Given the description of an element on the screen output the (x, y) to click on. 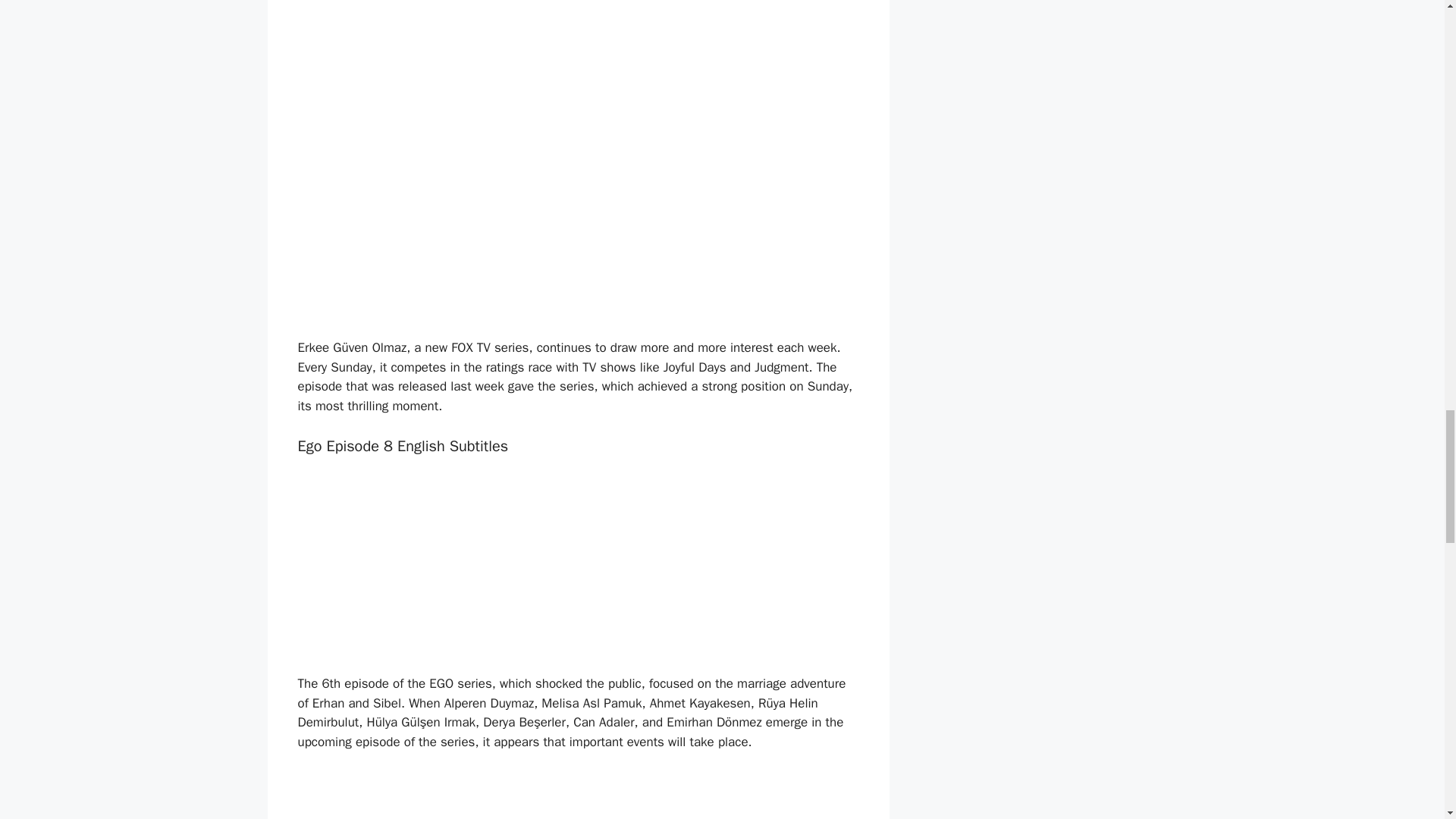
Advertisement (410, 567)
Advertisement (581, 212)
Advertisement (581, 43)
